Given the description of an element on the screen output the (x, y) to click on. 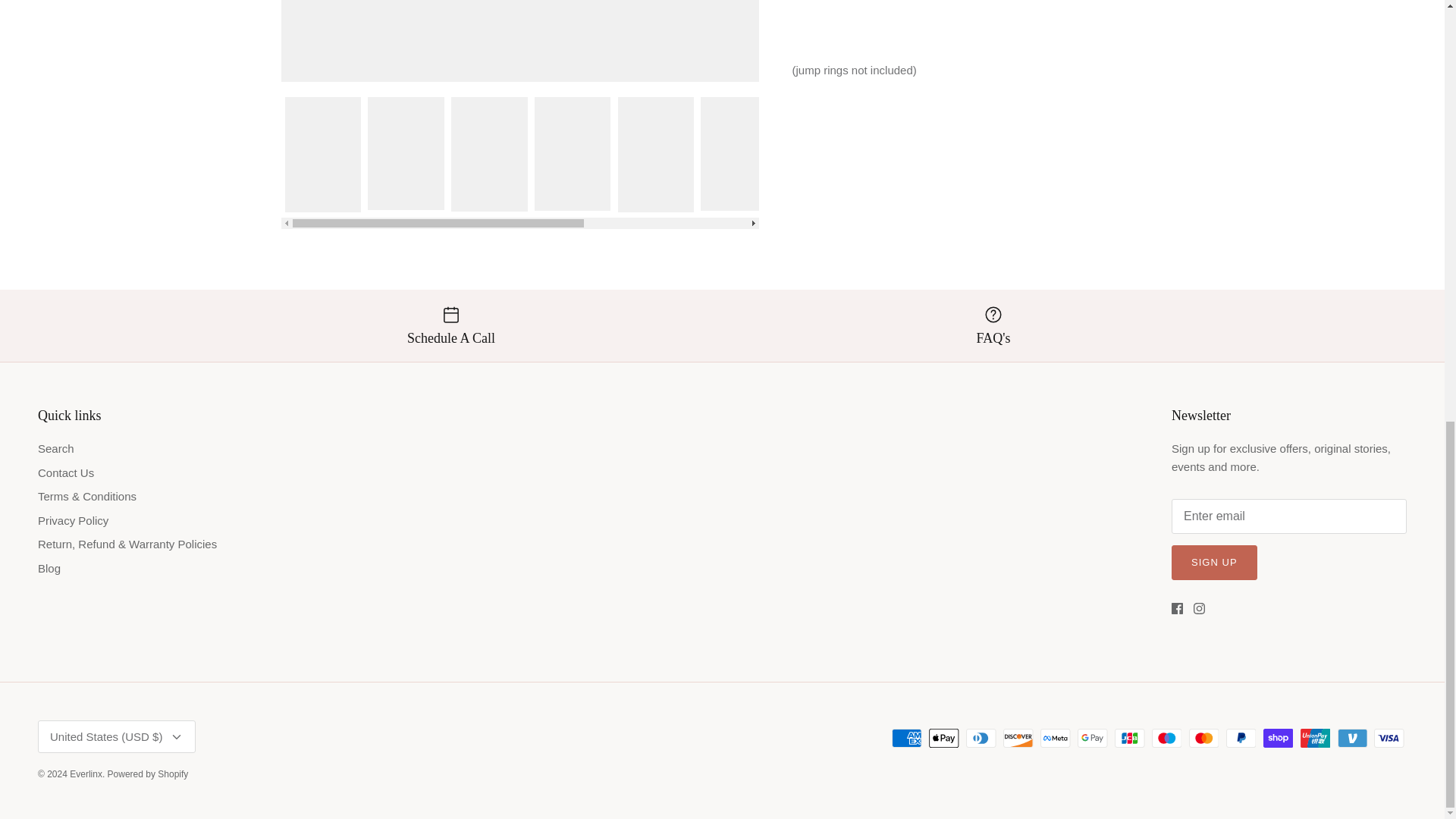
Instagram (1199, 608)
Diners Club (980, 737)
Facebook (1177, 608)
JCB (1129, 737)
Google Pay (1092, 737)
Meta Pay (1055, 737)
Maestro (1166, 737)
American Express (906, 737)
Apple Pay (943, 737)
Discover (1018, 737)
